Given the description of an element on the screen output the (x, y) to click on. 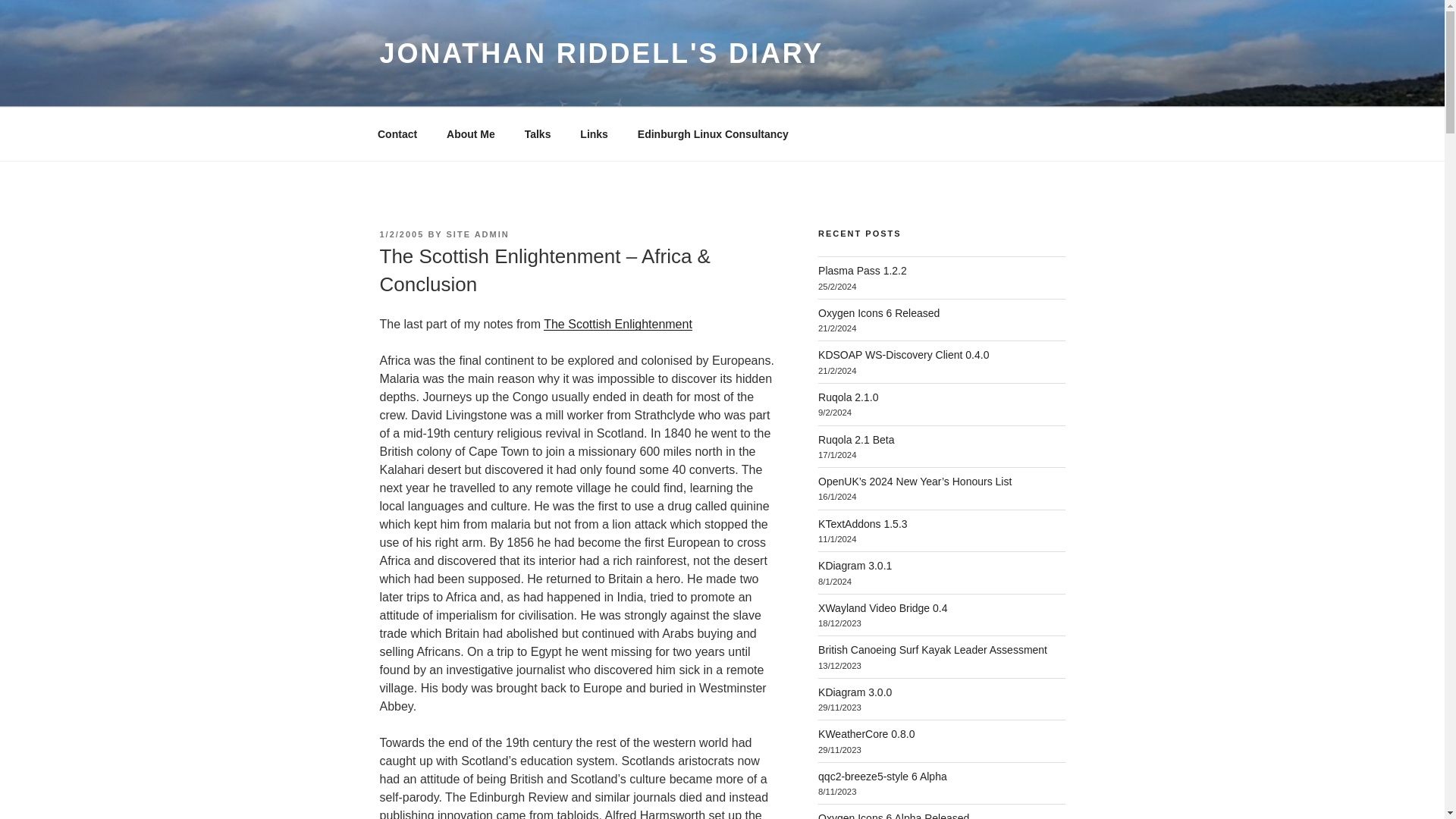
KDiagram 3.0.0 (854, 692)
About Me (470, 133)
Oxygen Icons 6 Released (878, 313)
Links (594, 133)
KDSOAP WS-Discovery Client 0.4.0 (903, 354)
Plasma Pass 1.2.2 (862, 270)
Ruqola 2.1 Beta (855, 439)
The Scottish Enlightenment (618, 323)
XWayland Video Bridge 0.4 (882, 607)
Talks (537, 133)
